Given the description of an element on the screen output the (x, y) to click on. 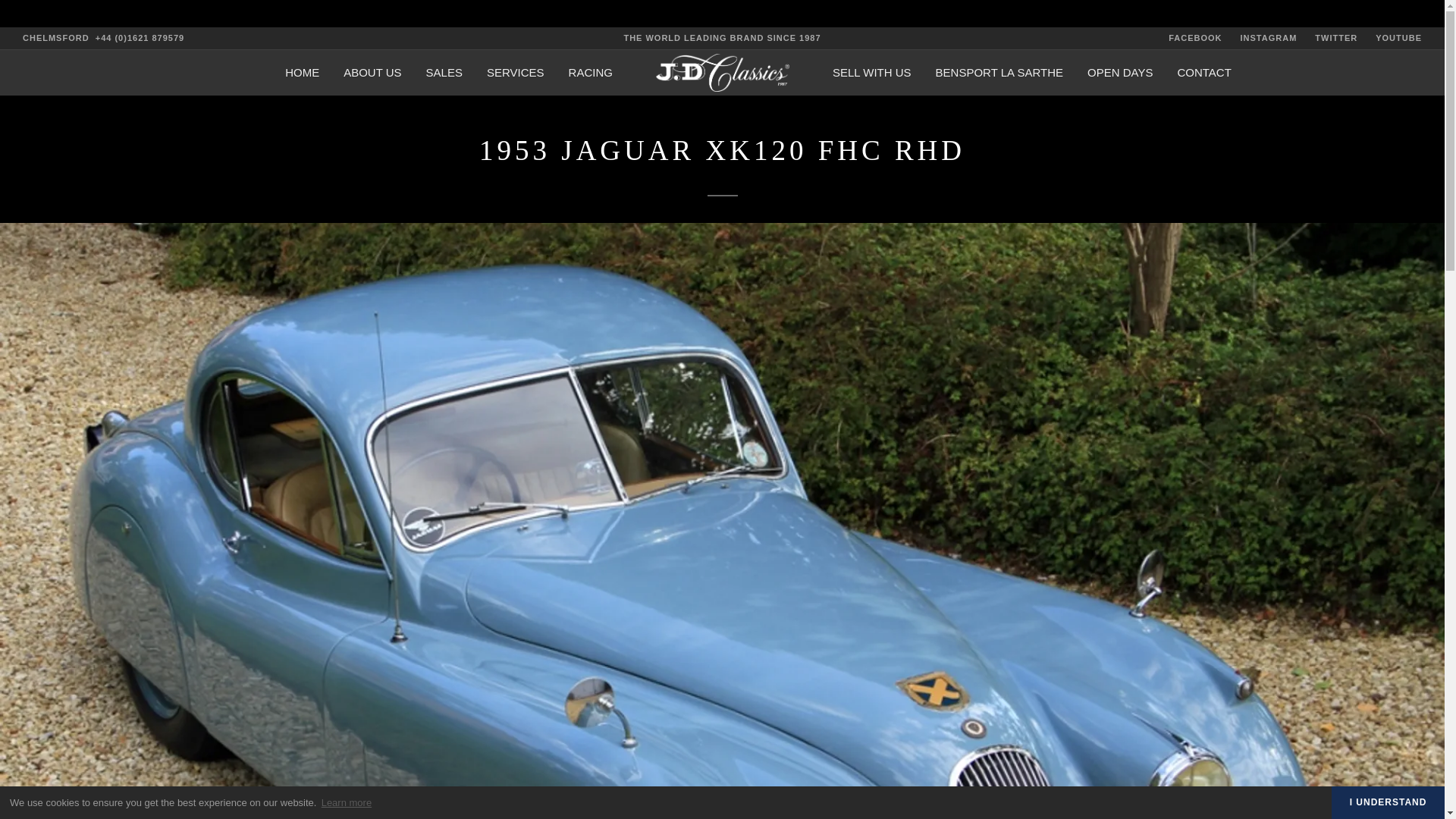
Learn more (346, 802)
FACEBOOK (1195, 38)
SERVICES (516, 72)
RACING (590, 72)
HOME (301, 72)
TWITTER (1335, 38)
YOUTUBE (1398, 38)
ABOUT US (371, 72)
SALES (444, 72)
INSTAGRAM (1268, 38)
